Given the description of an element on the screen output the (x, y) to click on. 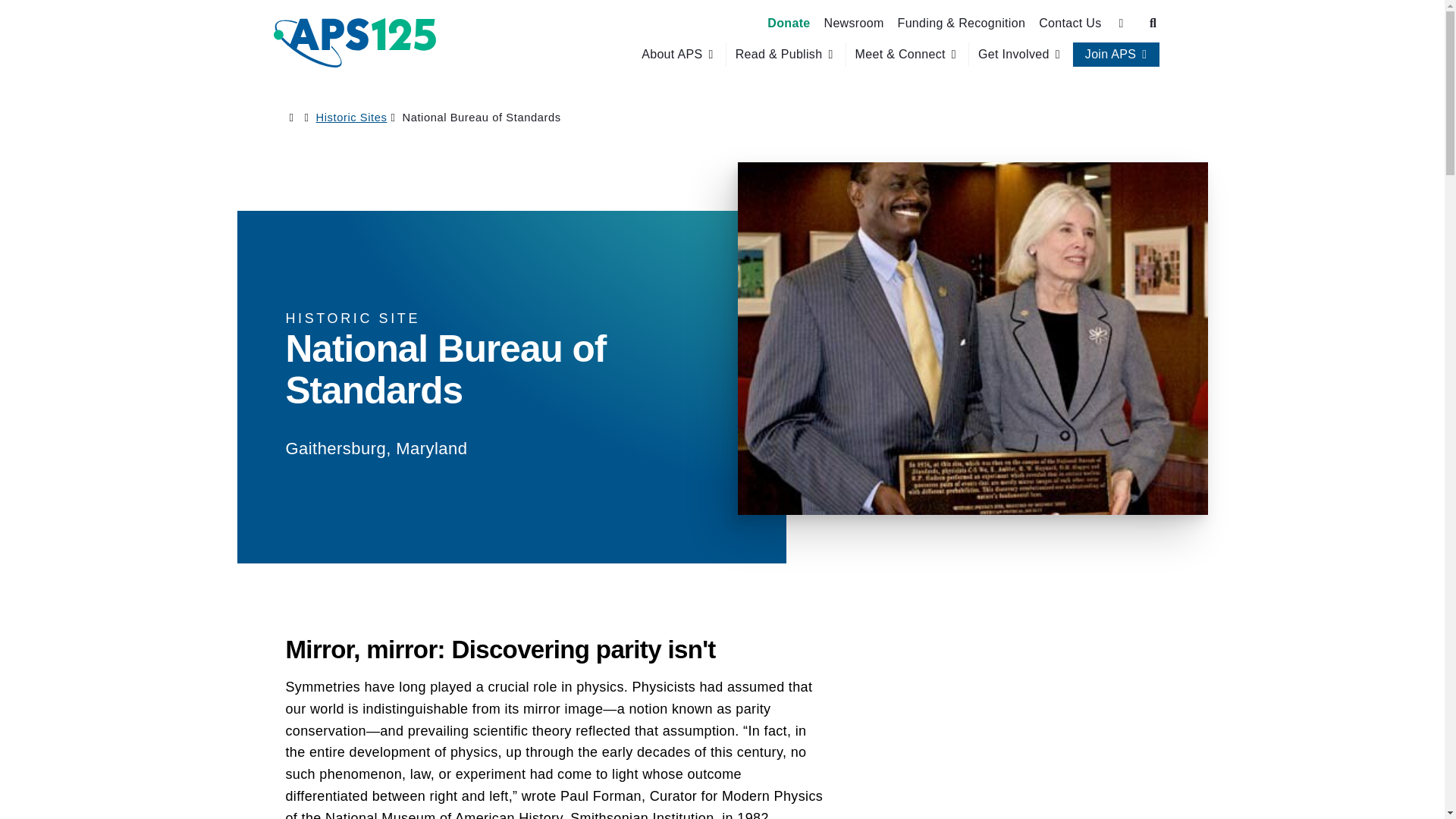
View About APS options (679, 54)
National Bureau of Standards (480, 117)
Contact Us (1069, 23)
View Join APS options (1115, 54)
Donate (788, 23)
Historic Sites (351, 117)
Newsroom (853, 23)
Get Involved (1013, 54)
Join APS (1110, 54)
View Get Involved options (1020, 54)
About APS (671, 54)
